Given the description of an element on the screen output the (x, y) to click on. 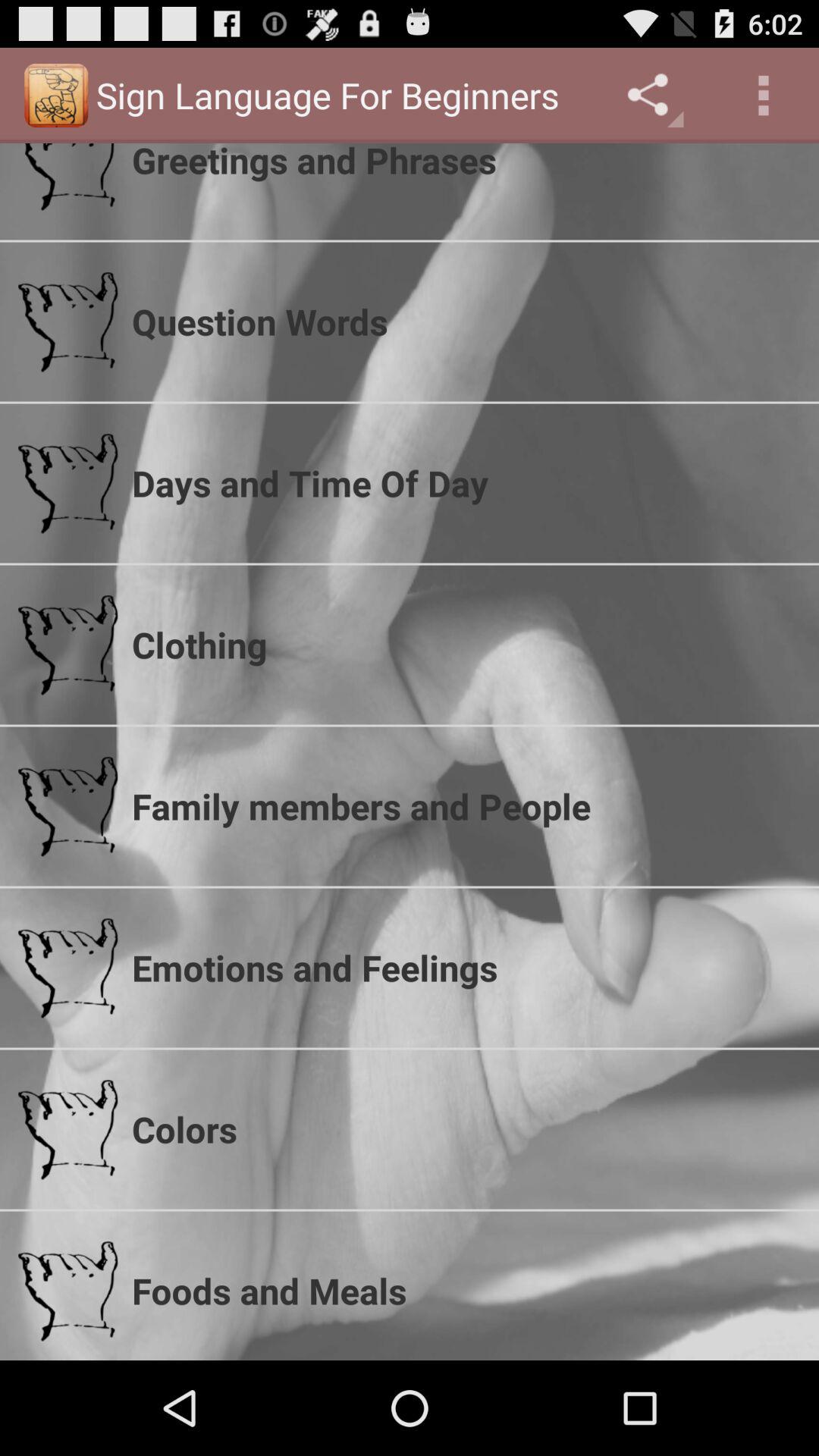
press the icon below question words item (465, 482)
